Given the description of an element on the screen output the (x, y) to click on. 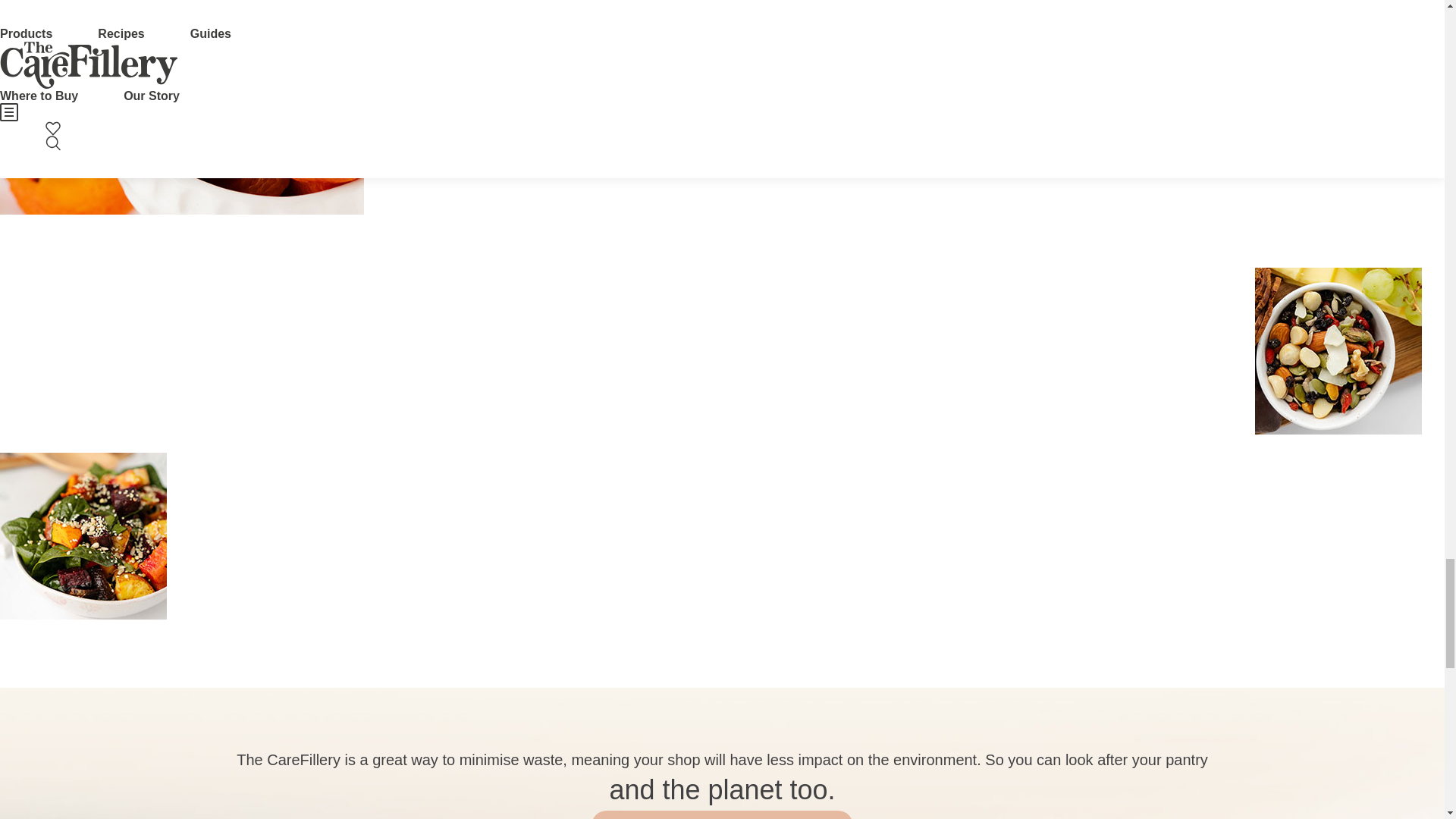
see our sustainability projects here (722, 814)
